Given the description of an element on the screen output the (x, y) to click on. 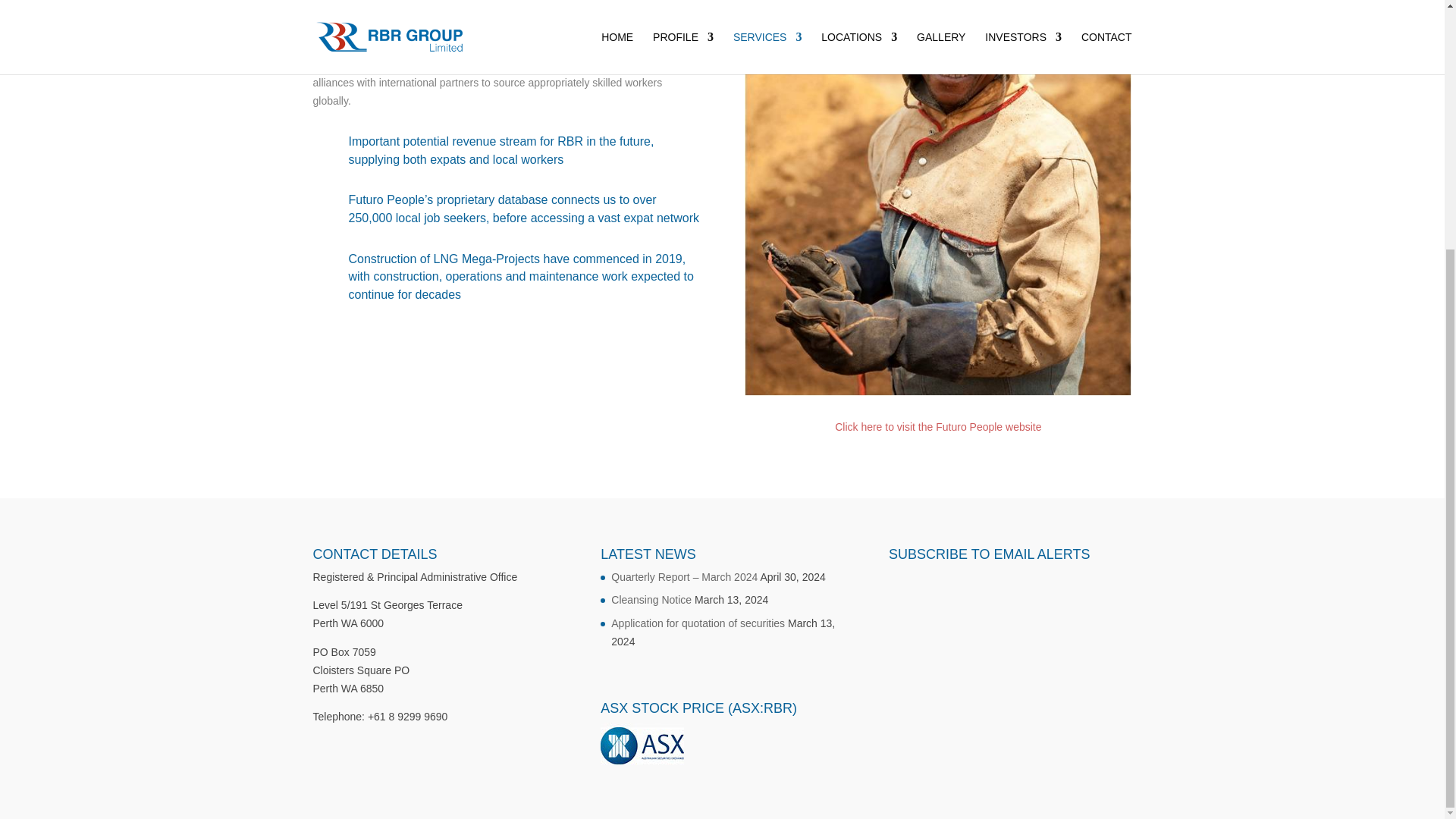
Cleansing Notice (651, 599)
Click here to visit the Futuro People website (937, 426)
Application for quotation of securities (697, 623)
